Given the description of an element on the screen output the (x, y) to click on. 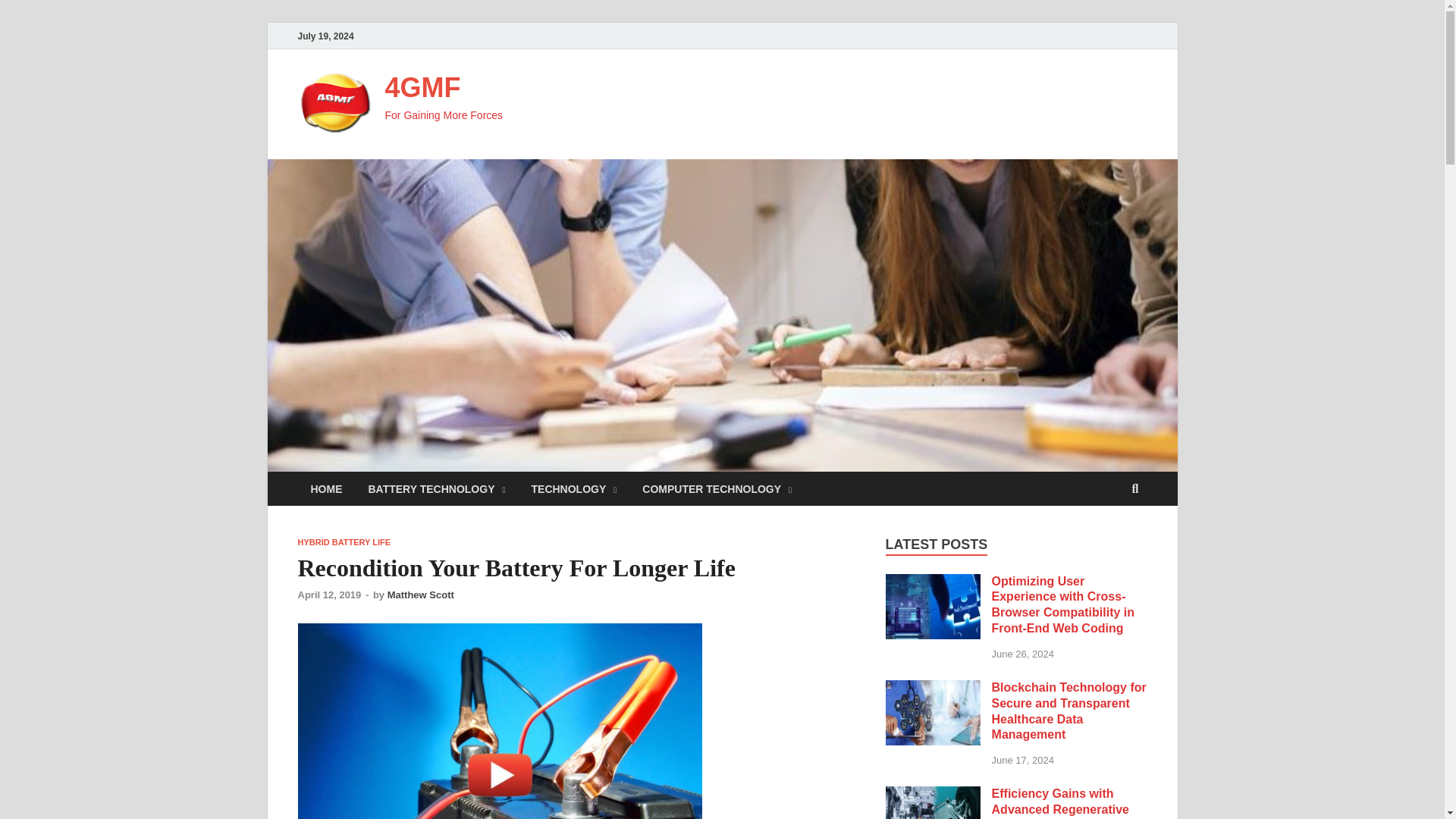
HOME (326, 488)
BATTERY TECHNOLOGY (436, 488)
4GMF (423, 87)
